Given the description of an element on the screen output the (x, y) to click on. 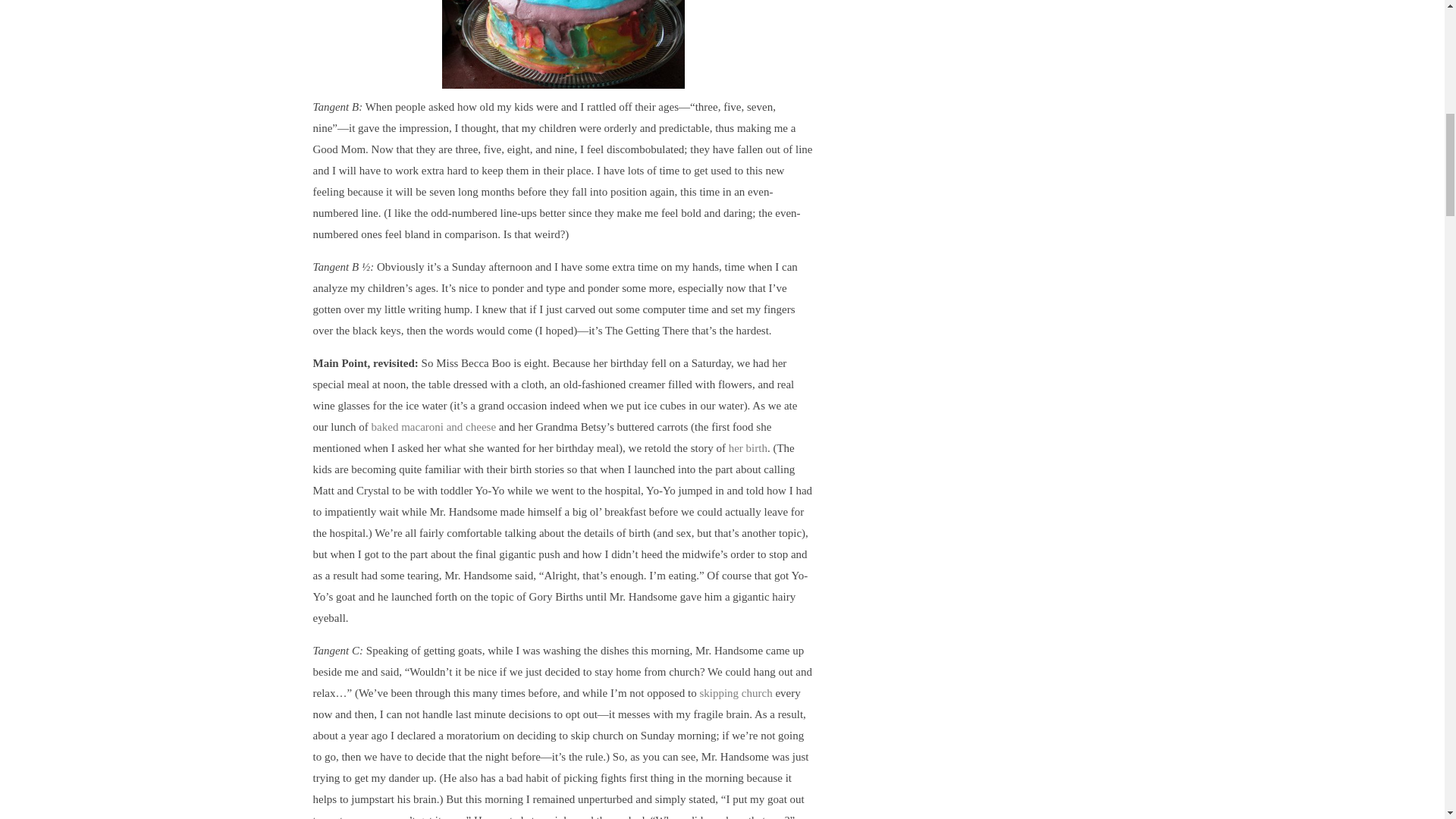
her birth (748, 448)
skipping church (734, 693)
baked macaroni and cheese (433, 426)
